Given the description of an element on the screen output the (x, y) to click on. 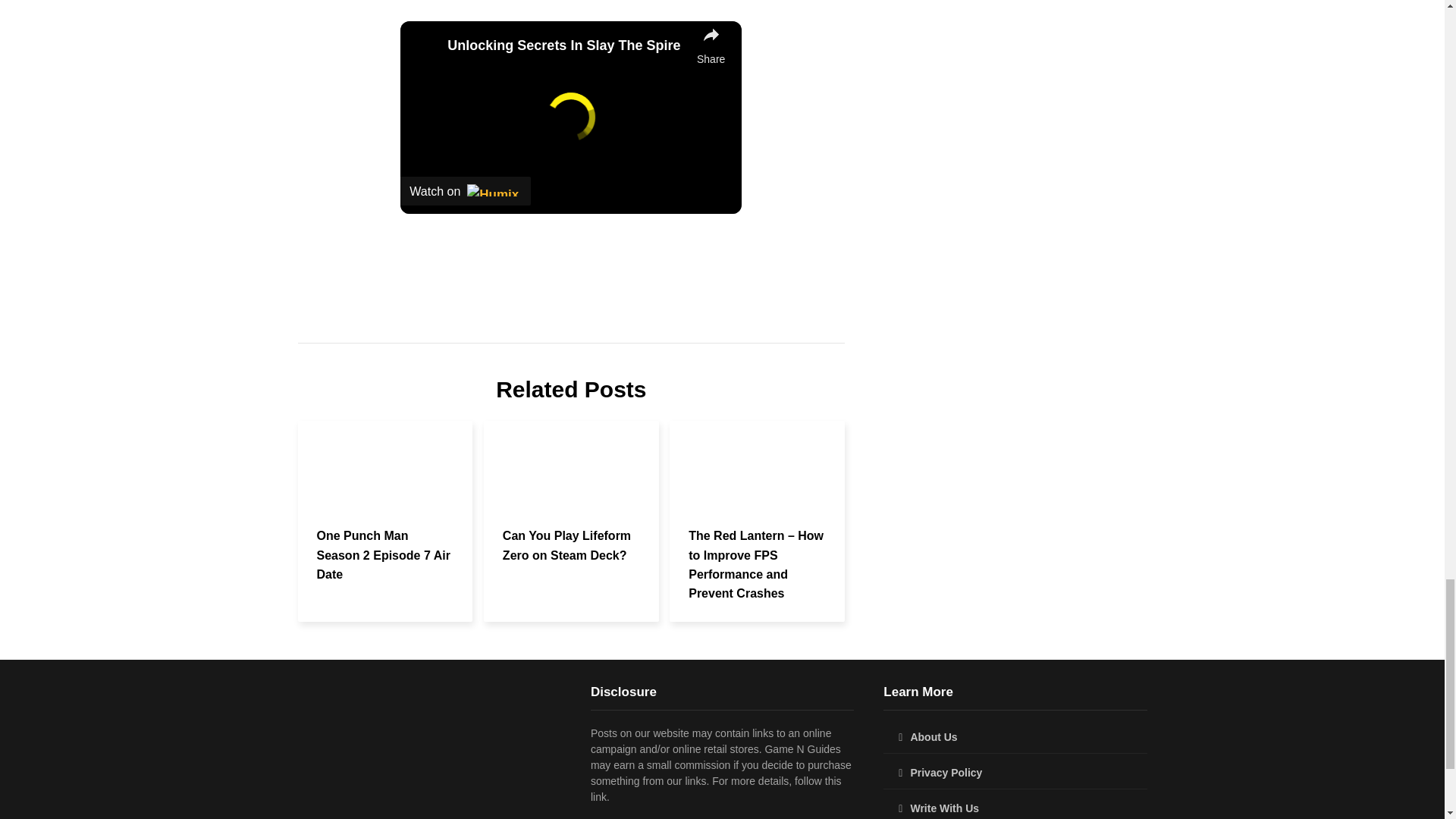
Unlocking Secrets In Slay The Spire (567, 45)
Watch on (465, 190)
Can You Play Lifeform Zero on Steam Deck? (566, 545)
One Punch Man Season 2 Episode 7 Air Date (383, 554)
